Given the description of an element on the screen output the (x, y) to click on. 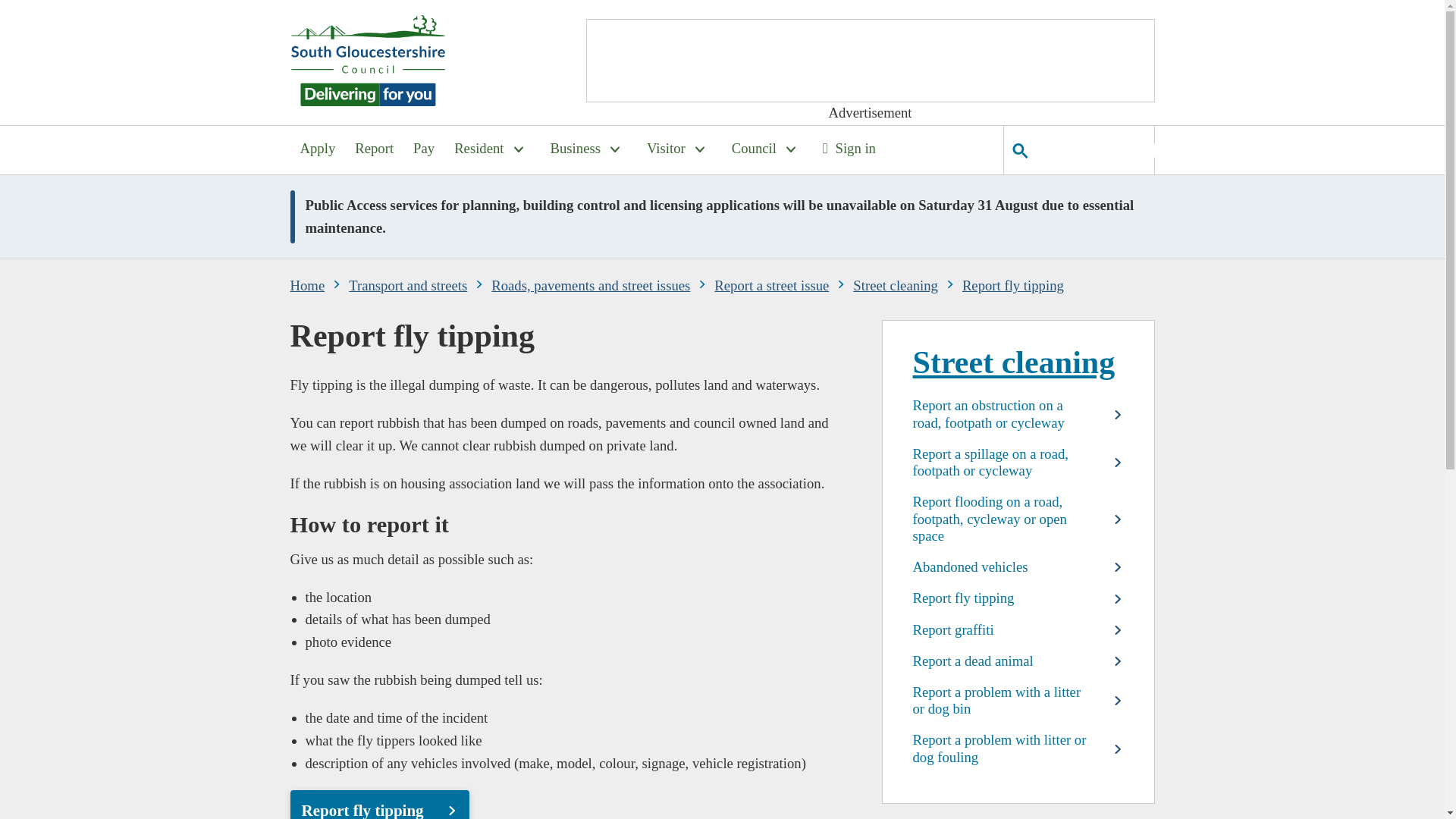
Sign in to your account (848, 150)
Report (374, 150)
Apply (317, 150)
search (1095, 149)
South Gloucestershire Council (367, 58)
Advertisement (869, 60)
